Given the description of an element on the screen output the (x, y) to click on. 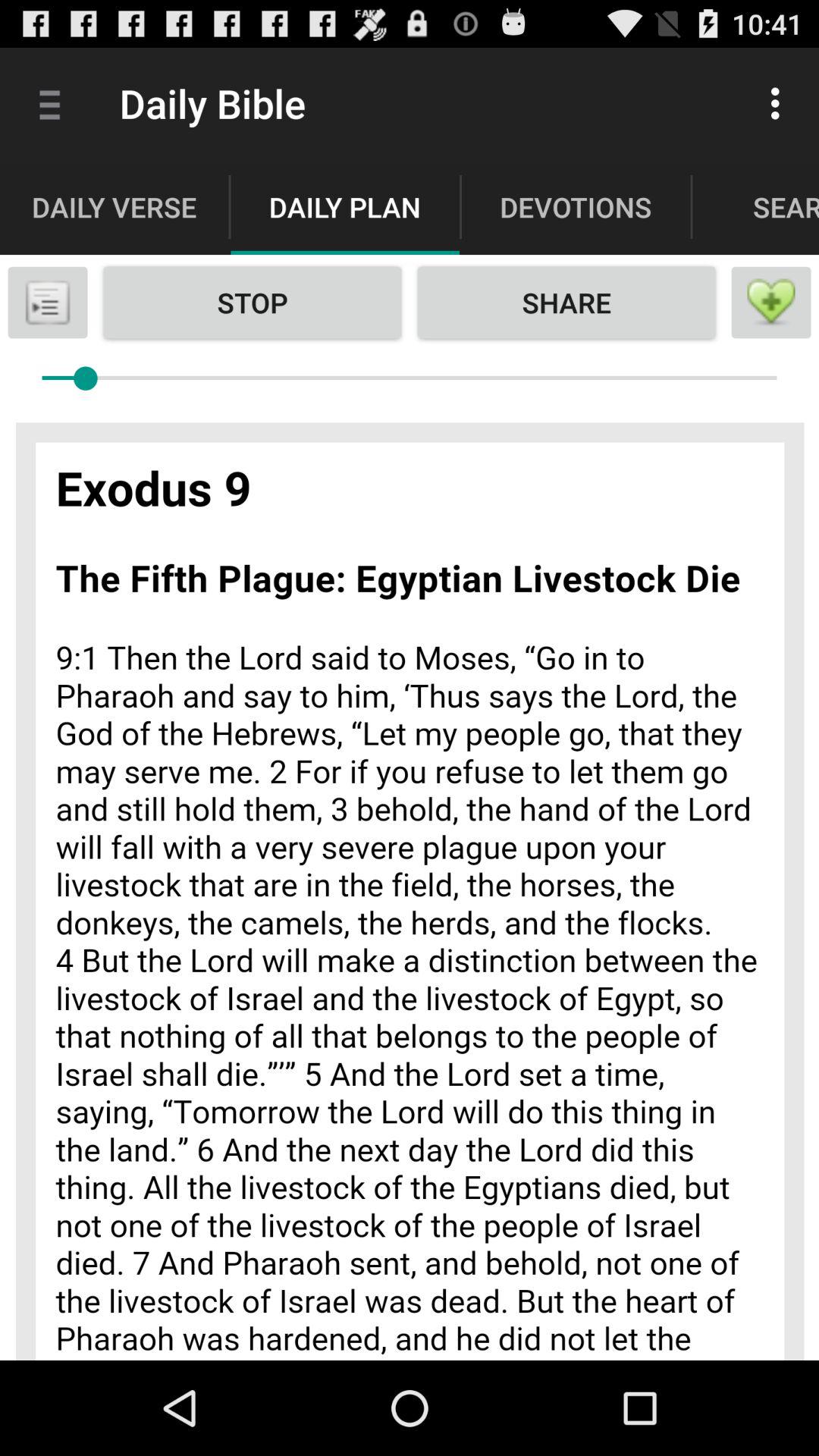
menu pega (47, 302)
